Given the description of an element on the screen output the (x, y) to click on. 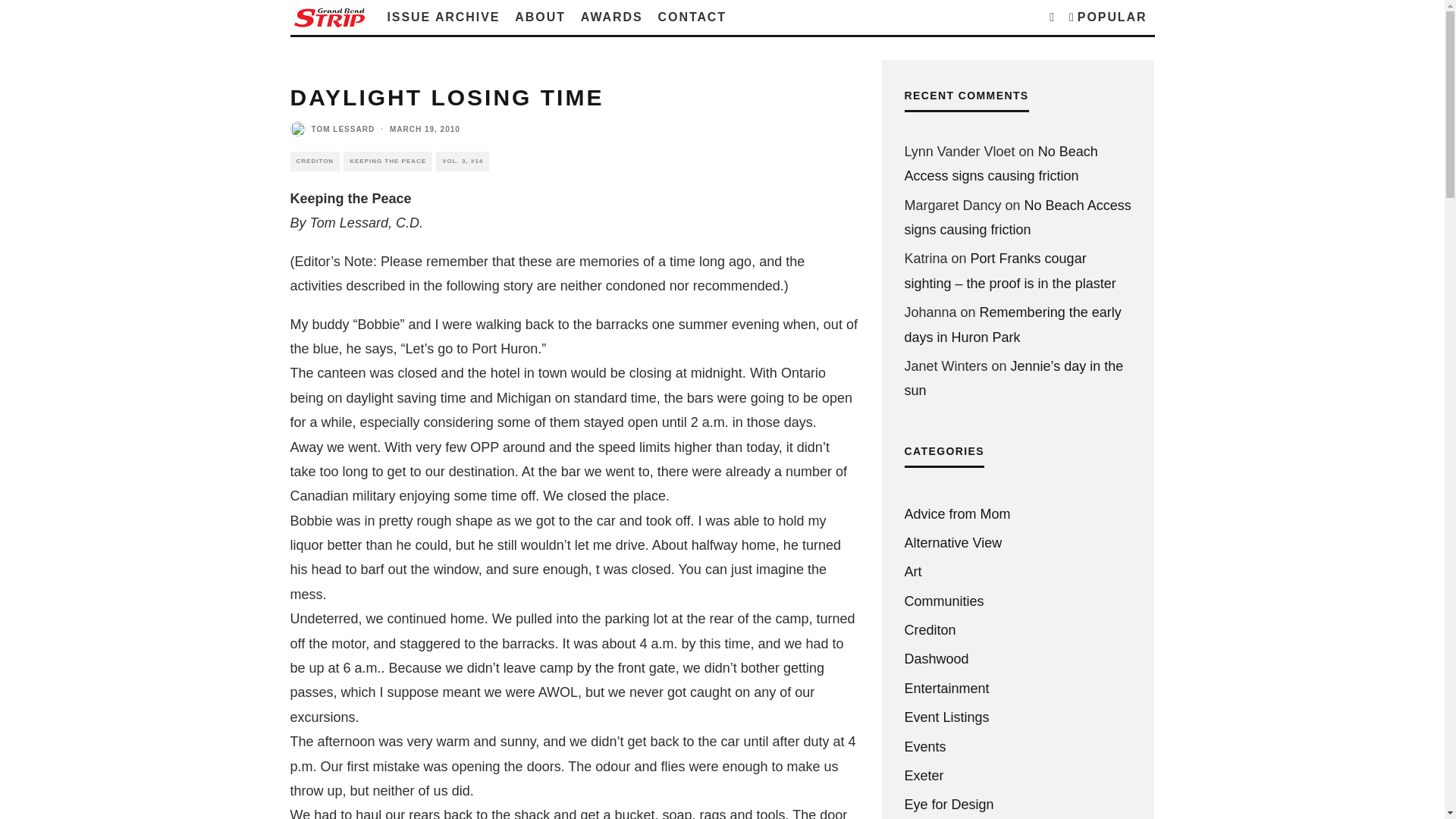
ABOUT (539, 17)
ISSUE ARCHIVE (442, 17)
No Beach Access signs causing friction (1000, 163)
POPULAR (1107, 17)
CREDITON (314, 161)
KEEPING THE PEACE (387, 161)
AWARDS (611, 17)
TOM LESSARD (342, 128)
CONTACT (691, 17)
